Given the description of an element on the screen output the (x, y) to click on. 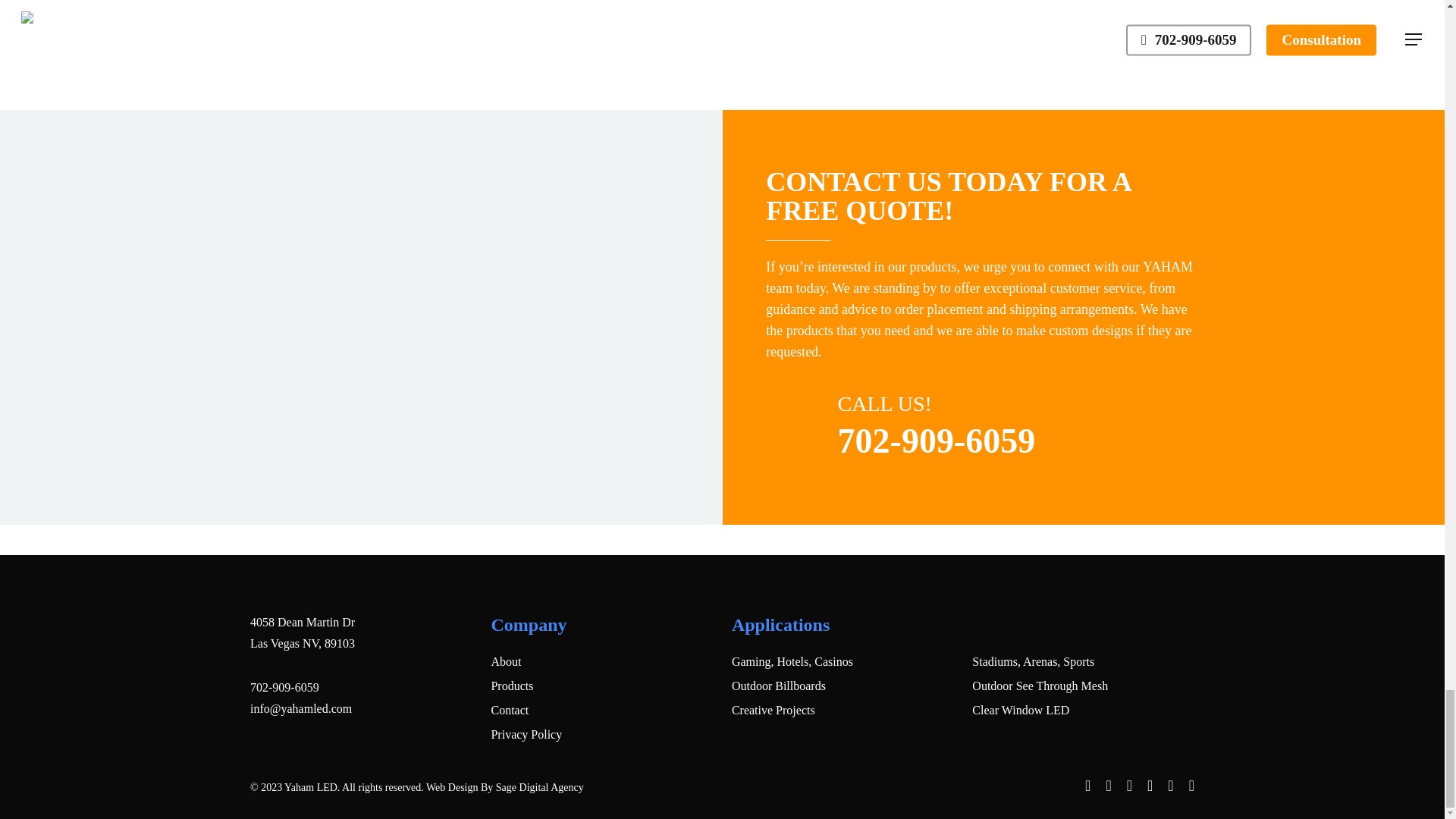
Gaming, Hotels, Casinos (842, 661)
Contact (601, 710)
Privacy Policy (601, 734)
Outdoor Billboards (842, 686)
Creative Projects (842, 710)
Stadiums, Arenas, Sports (1082, 661)
About (601, 661)
Products (601, 686)
Outdoor See Through Mesh (1082, 686)
Clear Window LED (1082, 710)
